Given the description of an element on the screen output the (x, y) to click on. 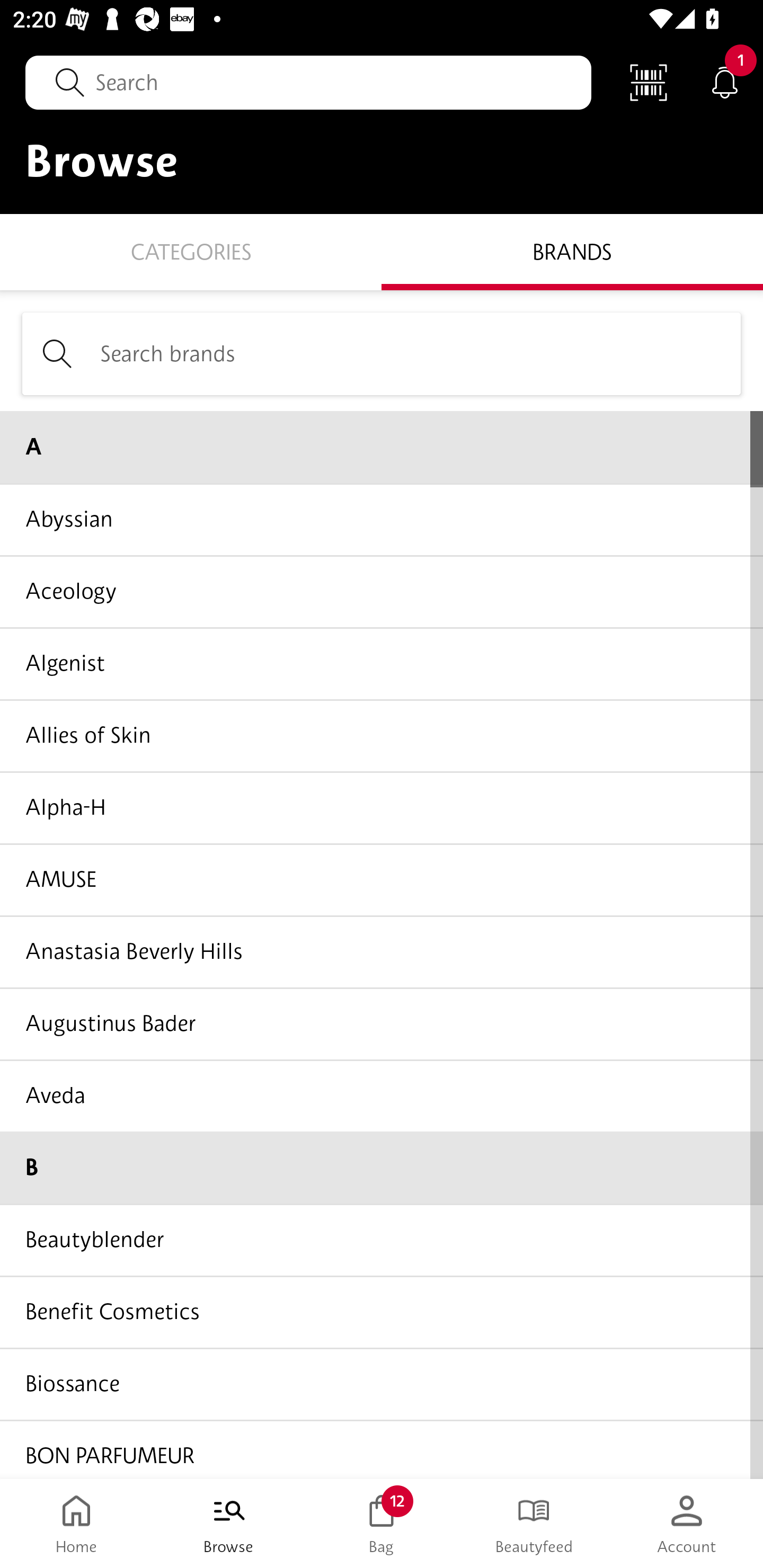
Scan Code (648, 81)
Notifications (724, 81)
Search (308, 81)
Categories CATEGORIES (190, 251)
Search brands (381, 353)
A (381, 446)
Abyssian (381, 518)
Aceology (381, 591)
Algenist (381, 663)
Allies of Skin (381, 735)
Alpha-H (381, 807)
AMUSE (381, 879)
Anastasia Beverly Hills (381, 951)
Augustinus Bader (381, 1023)
Aveda (381, 1095)
B (381, 1168)
Beautyblender (381, 1240)
Benefit Cosmetics (381, 1311)
Biossance (381, 1382)
BON PARFUMEUR (381, 1448)
Home (76, 1523)
Bag 12 Bag (381, 1523)
Beautyfeed (533, 1523)
Account (686, 1523)
